Given the description of an element on the screen output the (x, y) to click on. 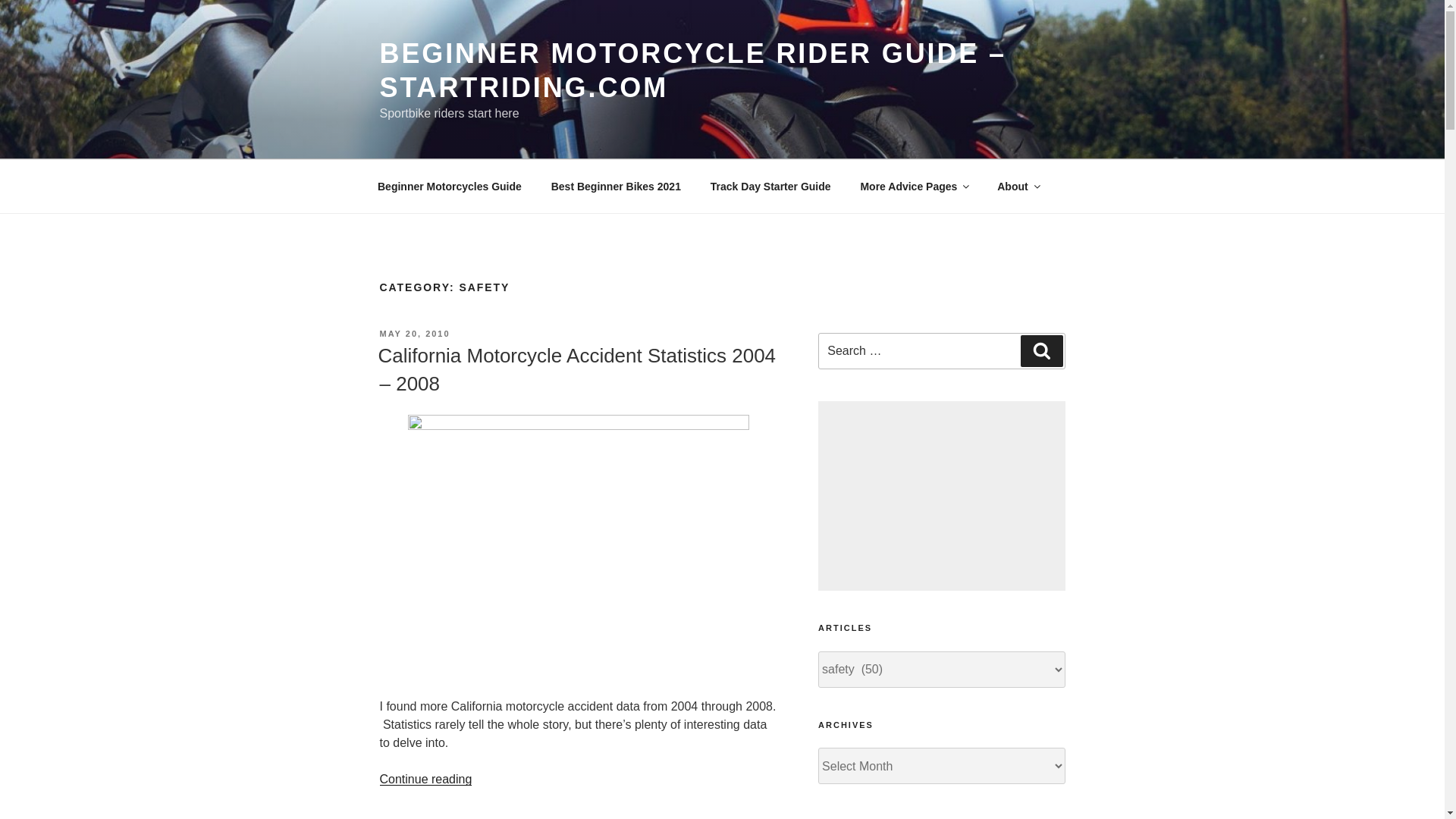
Beginner Motorcycles Guide (449, 186)
More Advice Pages (914, 186)
Best Beginner Bikes 2021 (615, 186)
Advertisement (941, 495)
About (1017, 186)
MAY 20, 2010 (413, 333)
Track Day Starter Guide (770, 186)
